Given the description of an element on the screen output the (x, y) to click on. 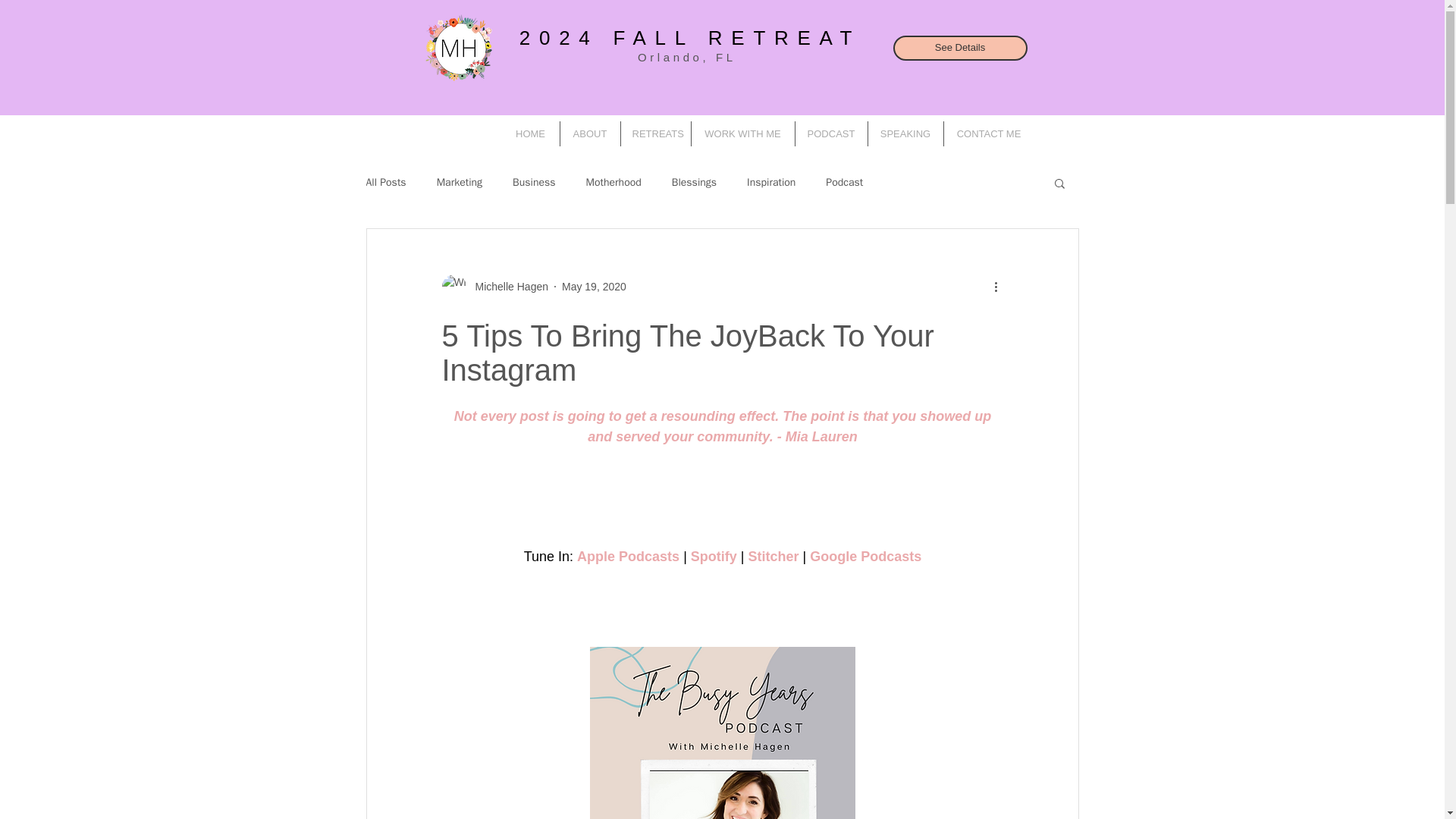
Business (533, 182)
Google Podcasts (865, 556)
CONTACT ME (988, 133)
SPEAKING (904, 133)
Michelle Hagen (506, 286)
Podcast (844, 182)
See Details (960, 48)
Stitcher (772, 556)
May 19, 2020 (594, 286)
Michelle Hagen (494, 286)
